Given the description of an element on the screen output the (x, y) to click on. 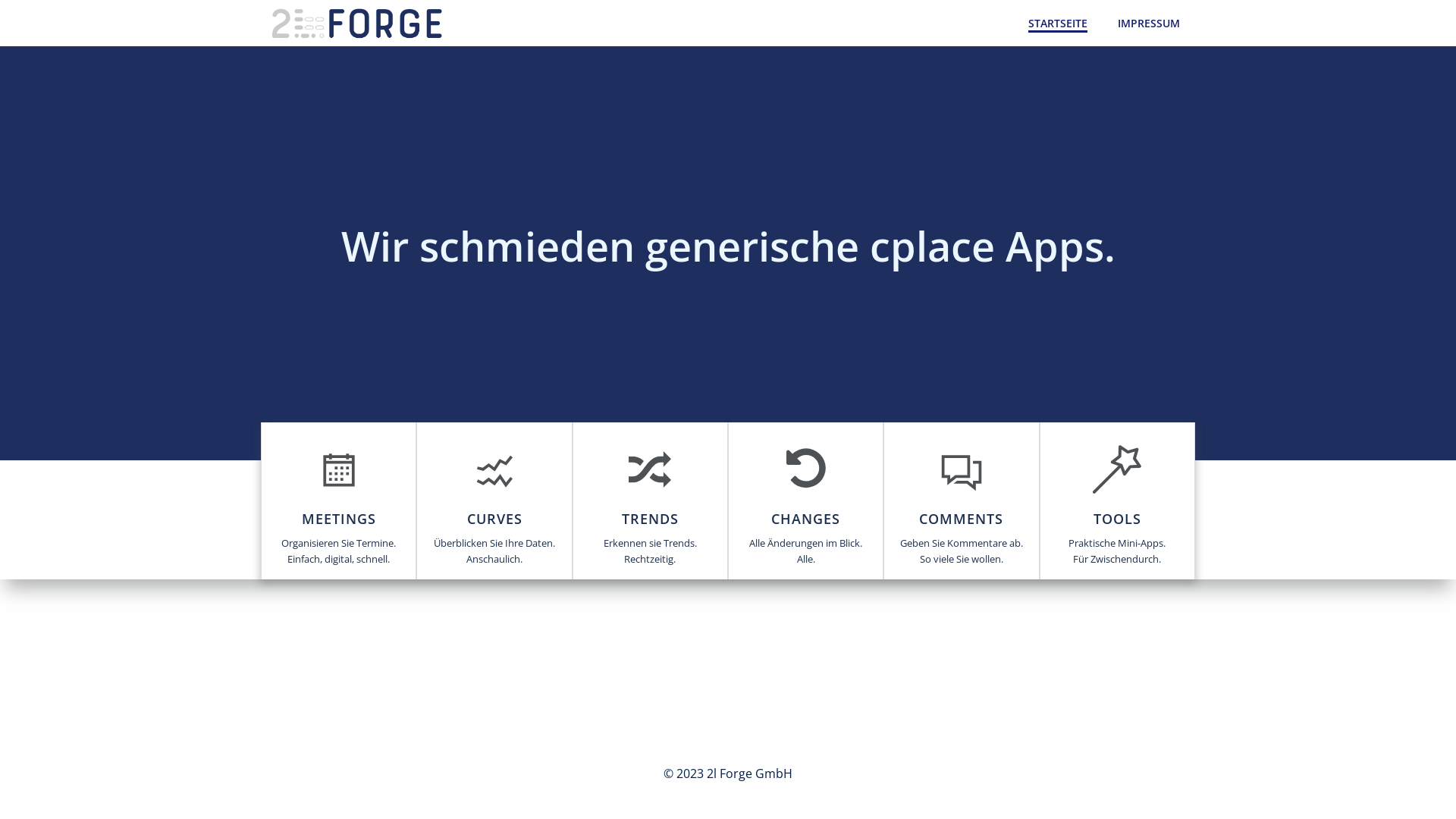
TRENDS Element type: text (650, 519)
IMPRESSUM Element type: text (1148, 23)
CHANGES Element type: text (805, 519)
STARTSEITE Element type: text (1057, 23)
CURVES Element type: text (493, 519)
